Given the description of an element on the screen output the (x, y) to click on. 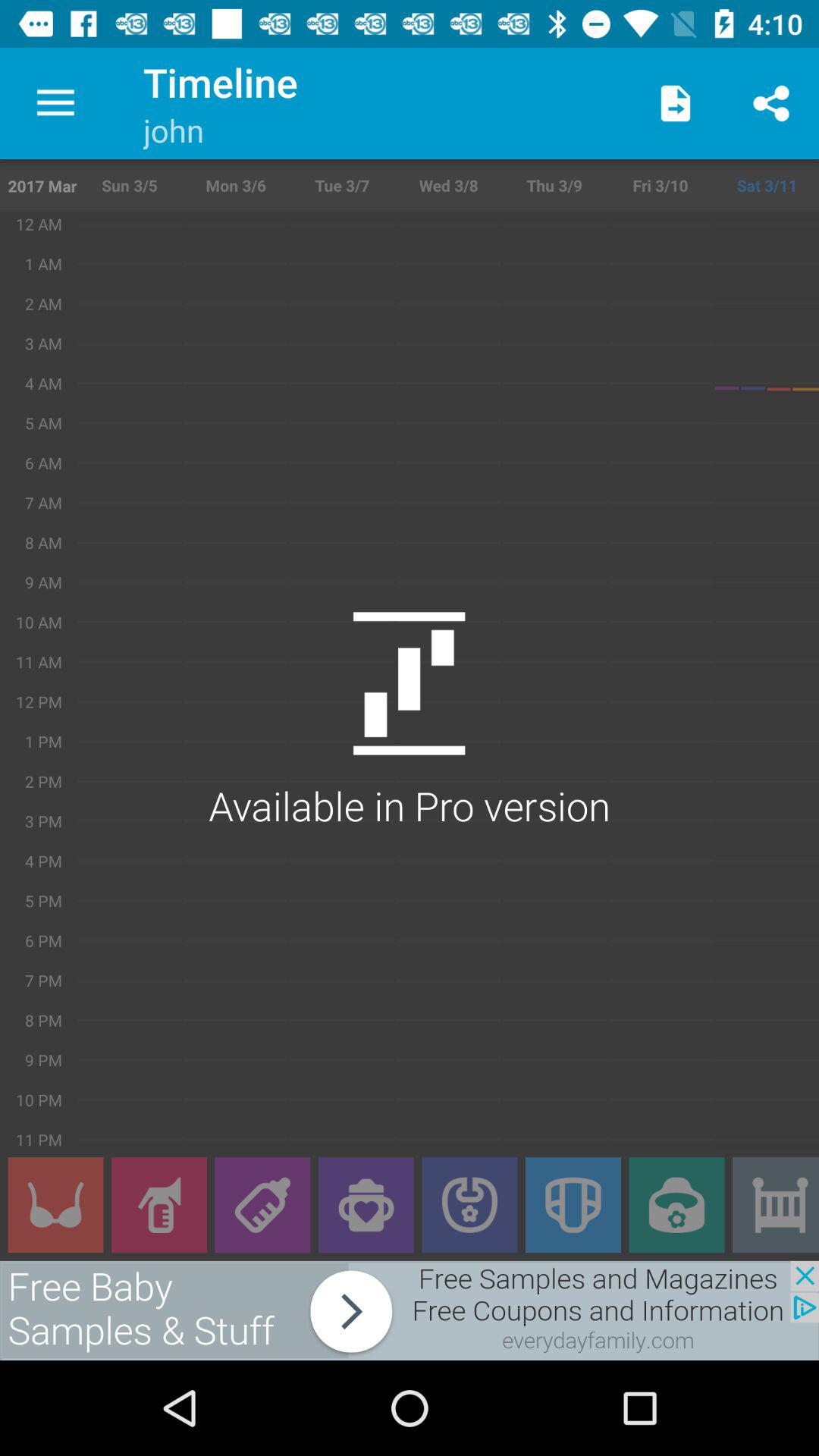
toggle autoplay option (55, 1204)
